Given the description of an element on the screen output the (x, y) to click on. 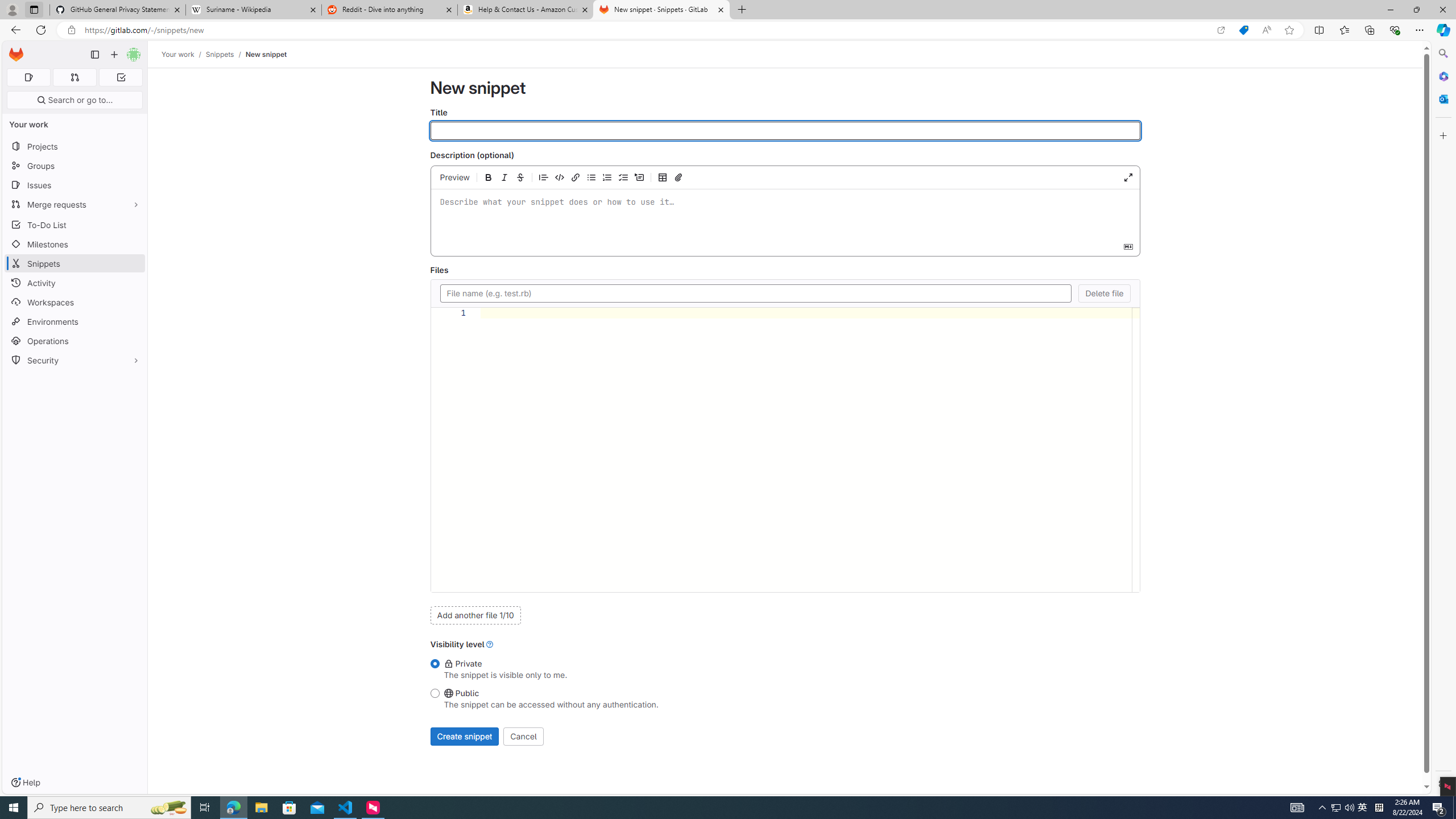
Projects (74, 145)
Milestones (74, 244)
Snippets (219, 53)
Create new... (113, 54)
Merge requests (74, 203)
Add a bullet list (591, 177)
New snippet (265, 53)
Add strikethrough text (Ctrl+Shift+X) (520, 177)
Your work/ (183, 53)
Security (74, 359)
Merge requests 0 (74, 76)
